Given the description of an element on the screen output the (x, y) to click on. 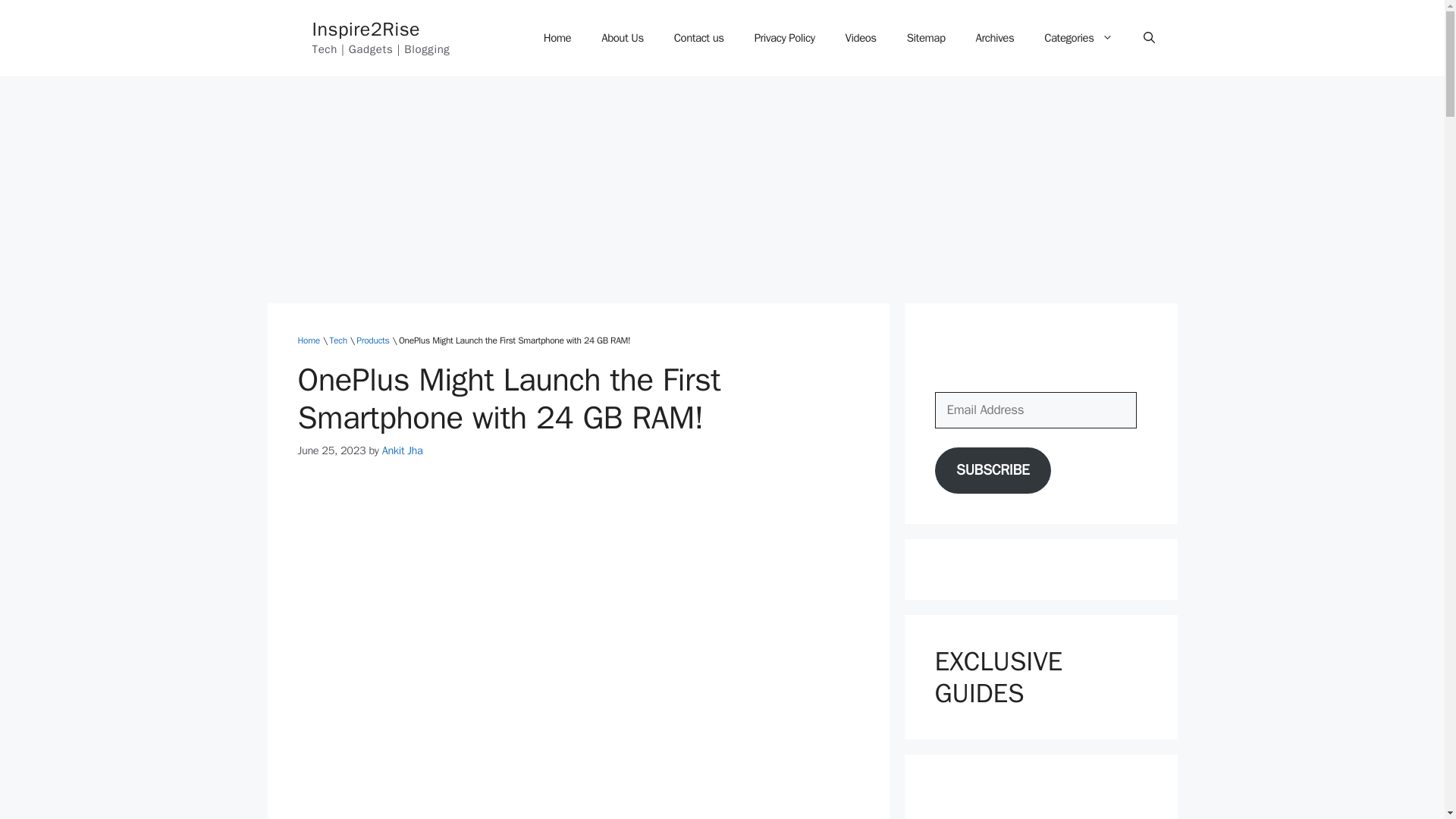
Home (557, 37)
About Us (622, 37)
Videos (860, 37)
Sitemap (925, 37)
Categories (1077, 37)
Privacy Policy (784, 37)
Videos (860, 37)
Contact the Admins (699, 37)
Categories (1077, 37)
About Inspire2Rise (622, 37)
